Given the description of an element on the screen output the (x, y) to click on. 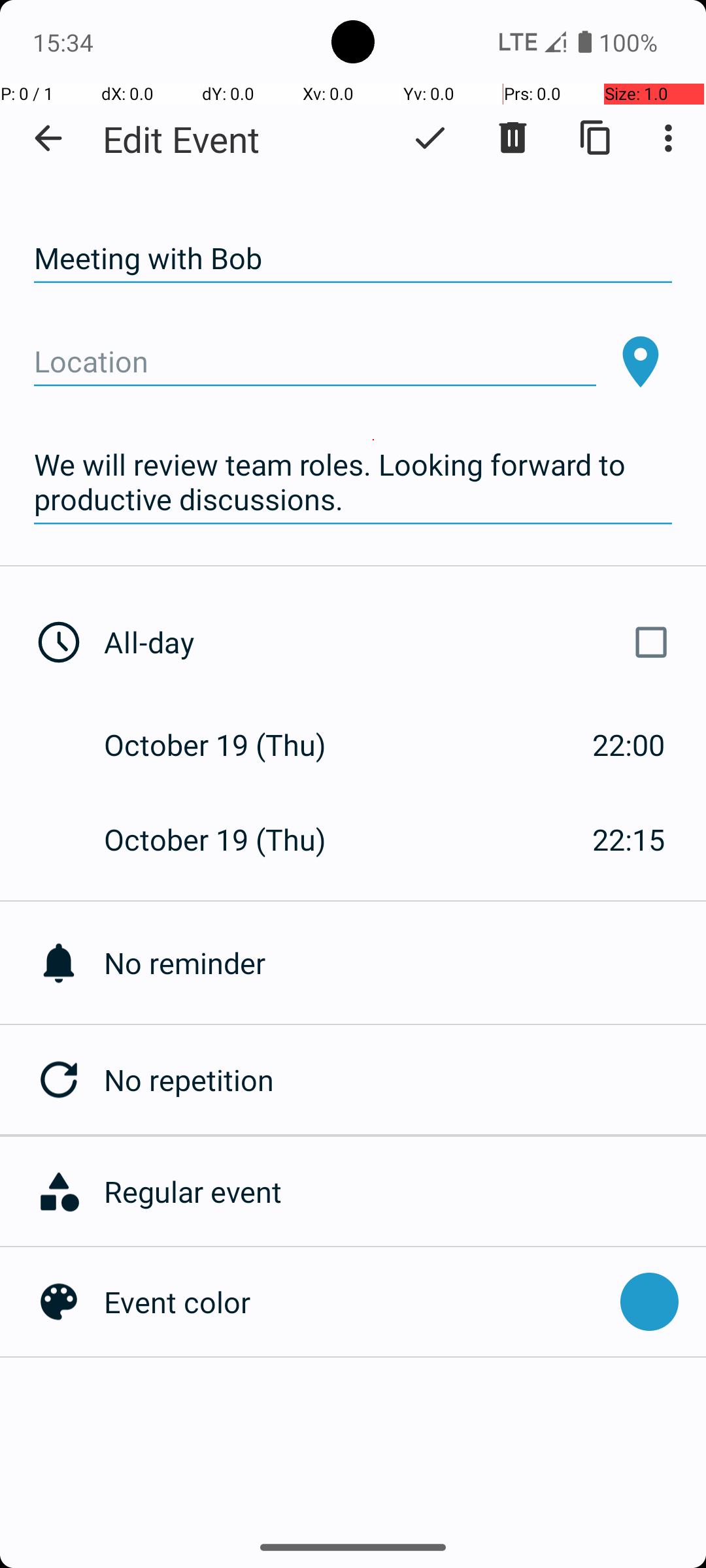
We will review team roles. Looking forward to productive discussions. Element type: android.widget.EditText (352, 482)
October 19 (Thu) Element type: android.widget.TextView (228, 744)
22:00 Element type: android.widget.TextView (628, 744)
22:15 Element type: android.widget.TextView (628, 838)
